Given the description of an element on the screen output the (x, y) to click on. 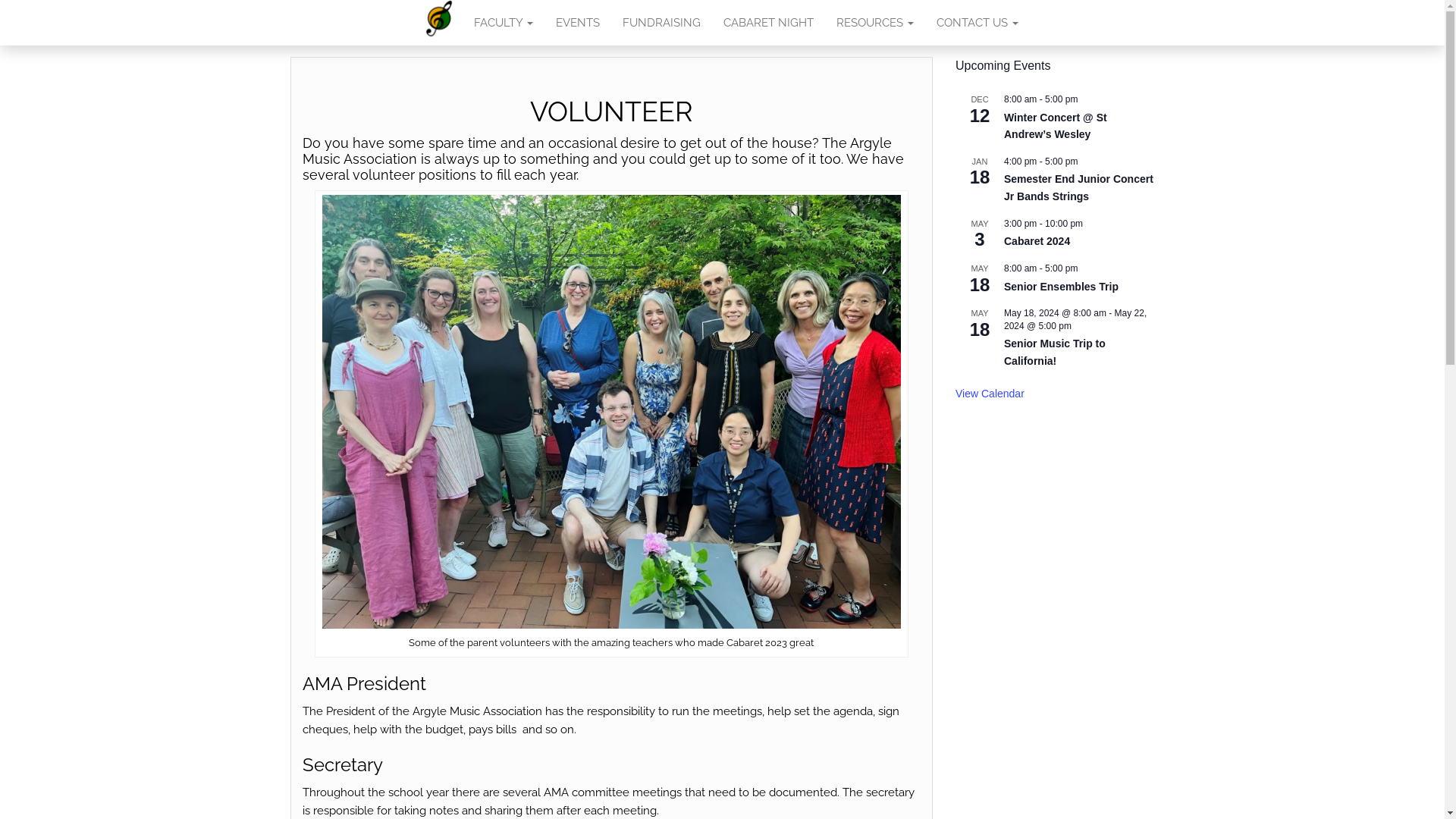
FACULTY Element type: text (503, 22)
FUNDRAISING Element type: text (661, 22)
EVENTS Element type: text (577, 22)
View Calendar Element type: text (989, 393)
Senior Music Trip to California! Element type: text (1054, 352)
CABARET NIGHT Element type: text (767, 22)
AMA Element type: text (438, 22)
RESOURCES Element type: text (875, 22)
Cabaret 2024 Element type: text (1037, 241)
CONTACT US Element type: text (977, 22)
Semester End Junior Concert Jr Bands Strings Element type: text (1078, 187)
Senior Ensembles Trip Element type: text (1061, 286)
